Given the description of an element on the screen output the (x, y) to click on. 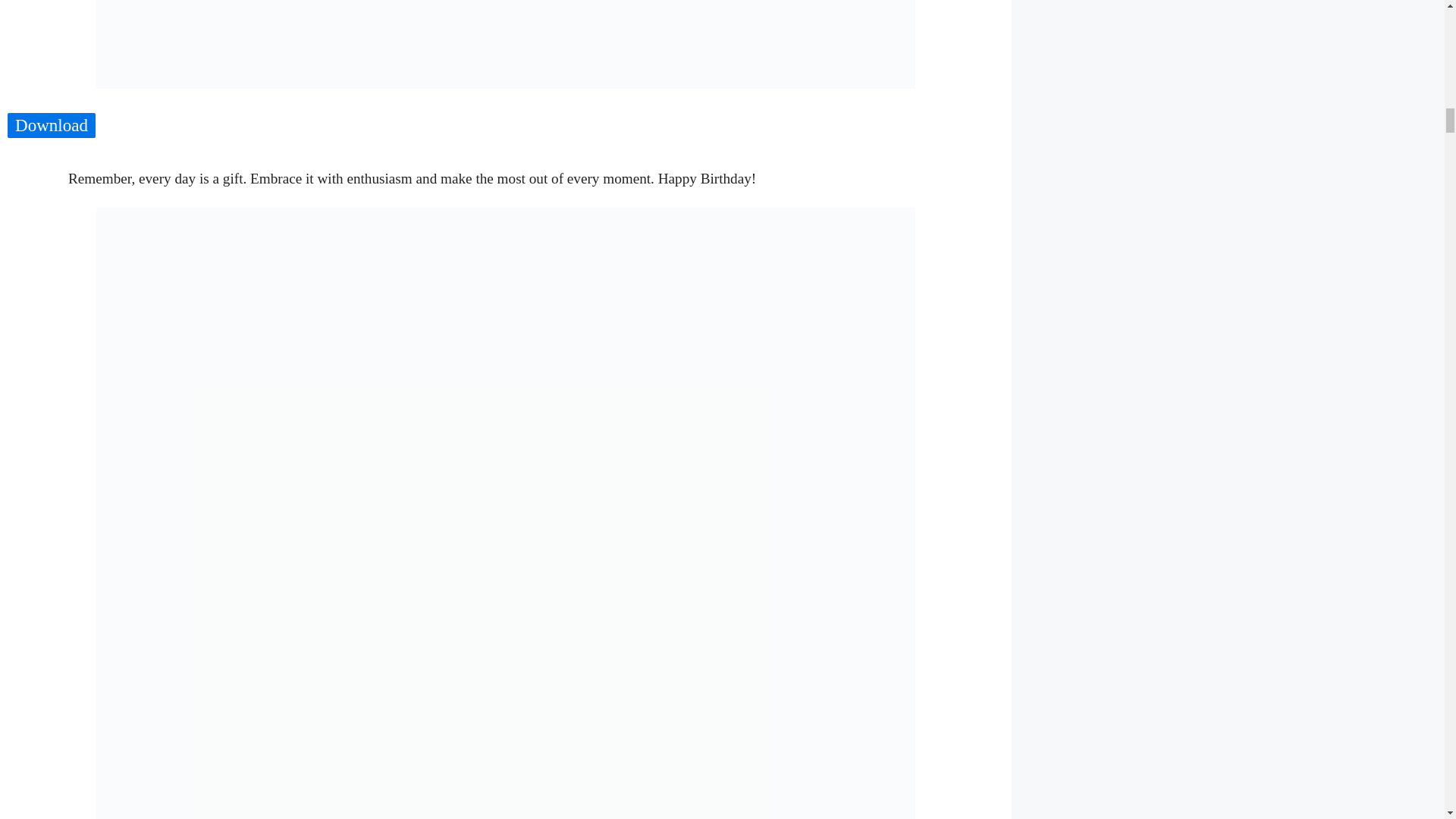
Download (51, 125)
Download (51, 125)
